Given the description of an element on the screen output the (x, y) to click on. 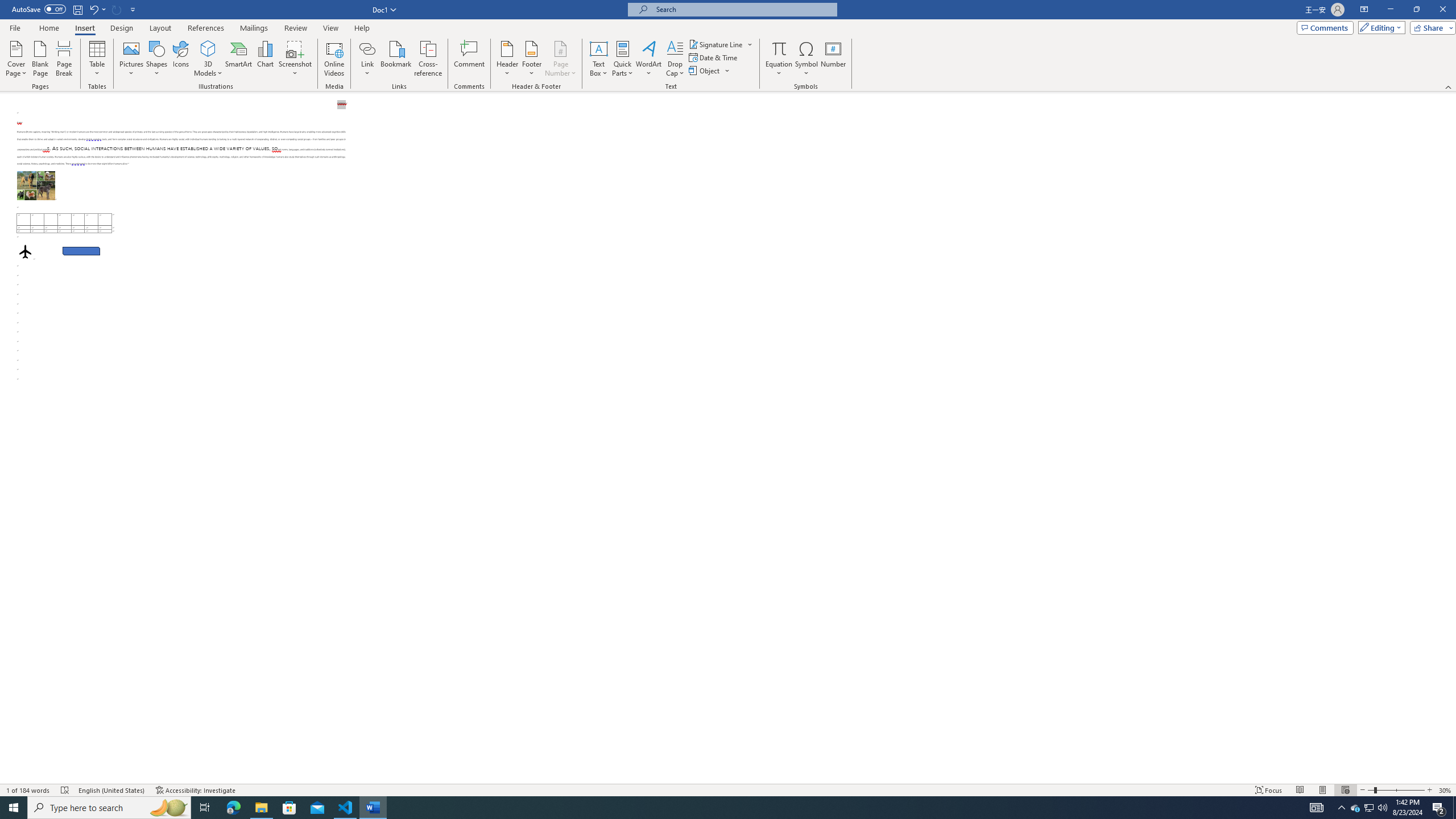
Rectangle: Diagonal Corners Snipped 2 (81, 250)
Shapes (156, 58)
Page Break (63, 58)
3D Models (208, 58)
Signature Line (721, 44)
